Given the description of an element on the screen output the (x, y) to click on. 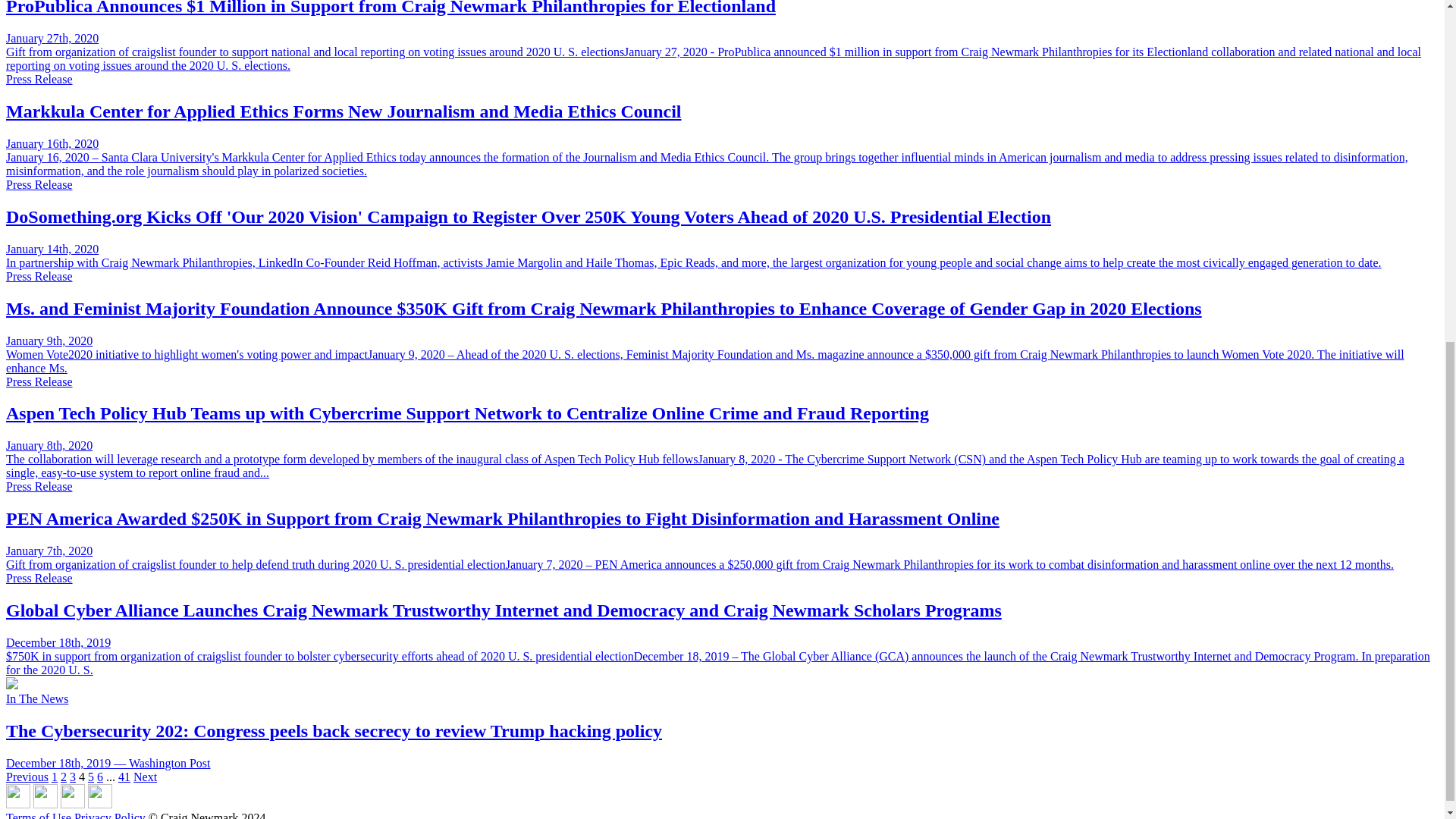
LinkedIn (99, 803)
Twitter (72, 803)
1 (54, 776)
Next (145, 776)
Facebook (17, 803)
Previous (26, 776)
Mastodon (45, 803)
Previous (26, 776)
